Given the description of an element on the screen output the (x, y) to click on. 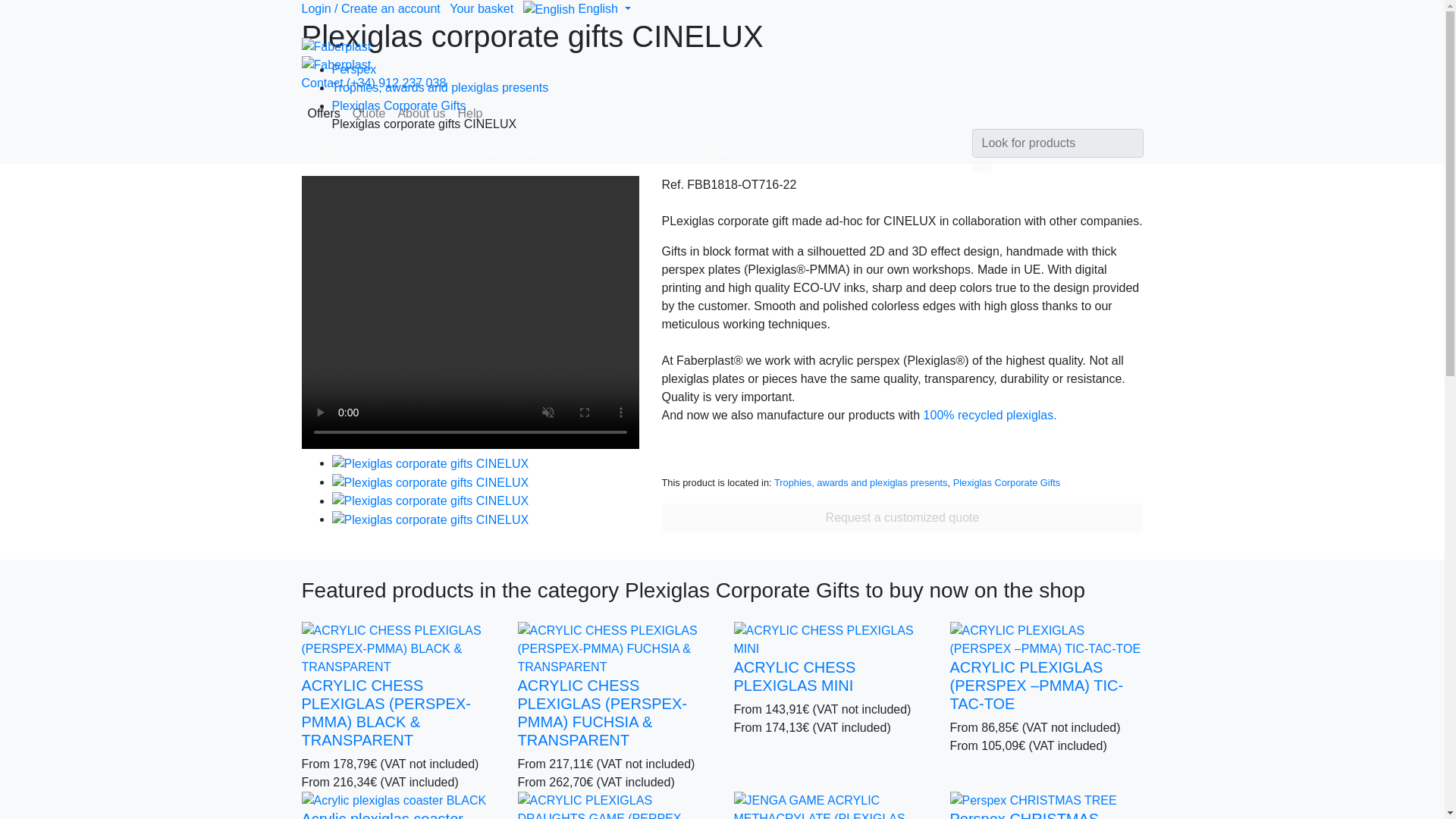
Boxes (375, 152)
Plexiglas corporate gifts CINELUX (430, 518)
Help (470, 113)
Decoration (547, 152)
Plexiglas corporate gifts CINELUX (430, 462)
Your basket (481, 8)
Trophies, awards and plexiglas presents (439, 87)
All (822, 152)
Plexiglas Corporate Gifts (398, 105)
Urns (418, 152)
About us (421, 113)
Plexiglas corporate gifts CINELUX (430, 500)
Offers (323, 113)
Brochure holders (692, 152)
Quote (368, 113)
